Given the description of an element on the screen output the (x, y) to click on. 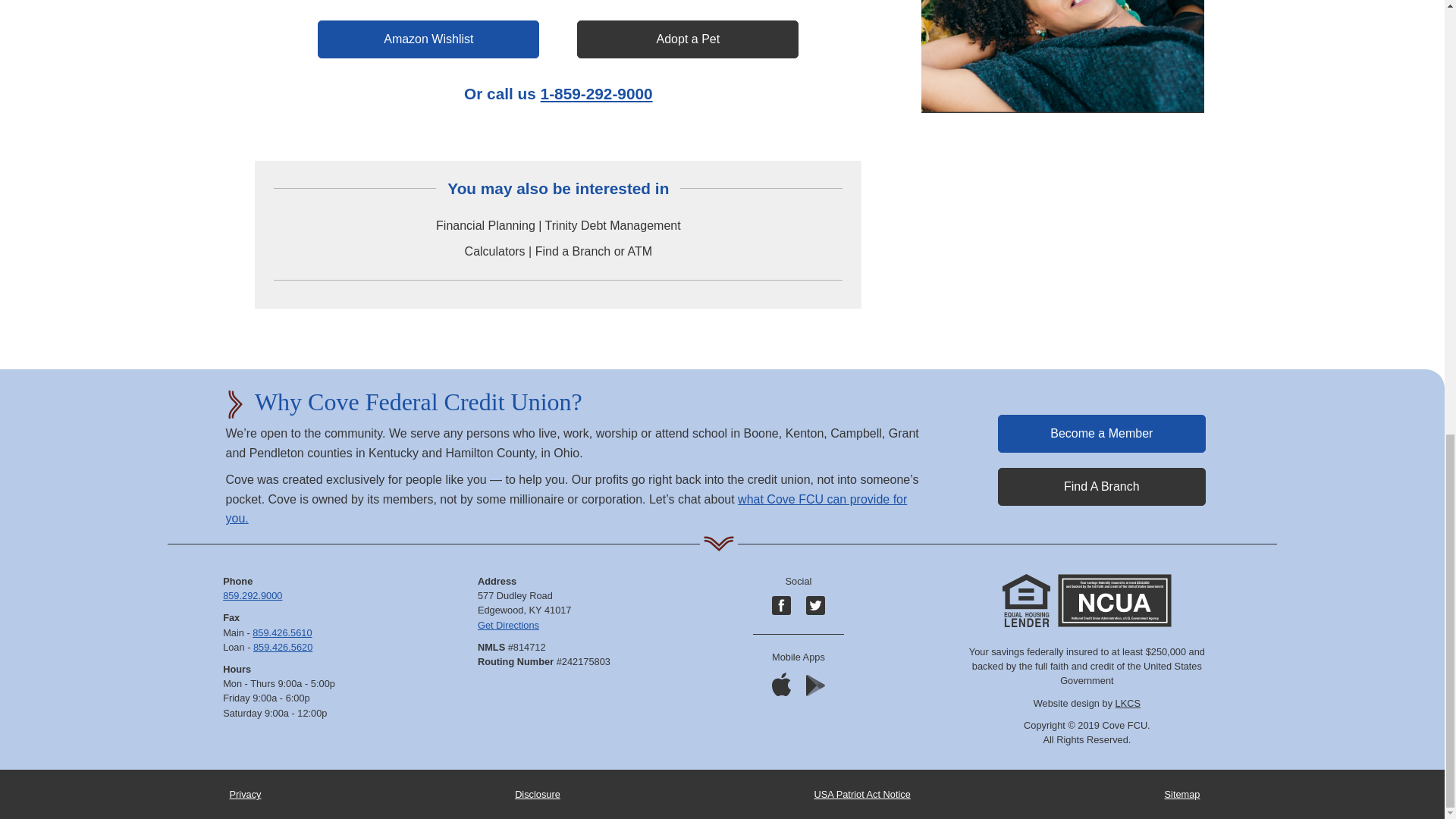
Fee Schedule (537, 794)
USA Patriot Act Notice (862, 794)
Follow us on twitter (815, 605)
Equal Housing Lender (1026, 600)
android googlePlay (815, 685)
NCUA (1115, 600)
Sitemap (1181, 794)
facebook (780, 605)
